Given the description of an element on the screen output the (x, y) to click on. 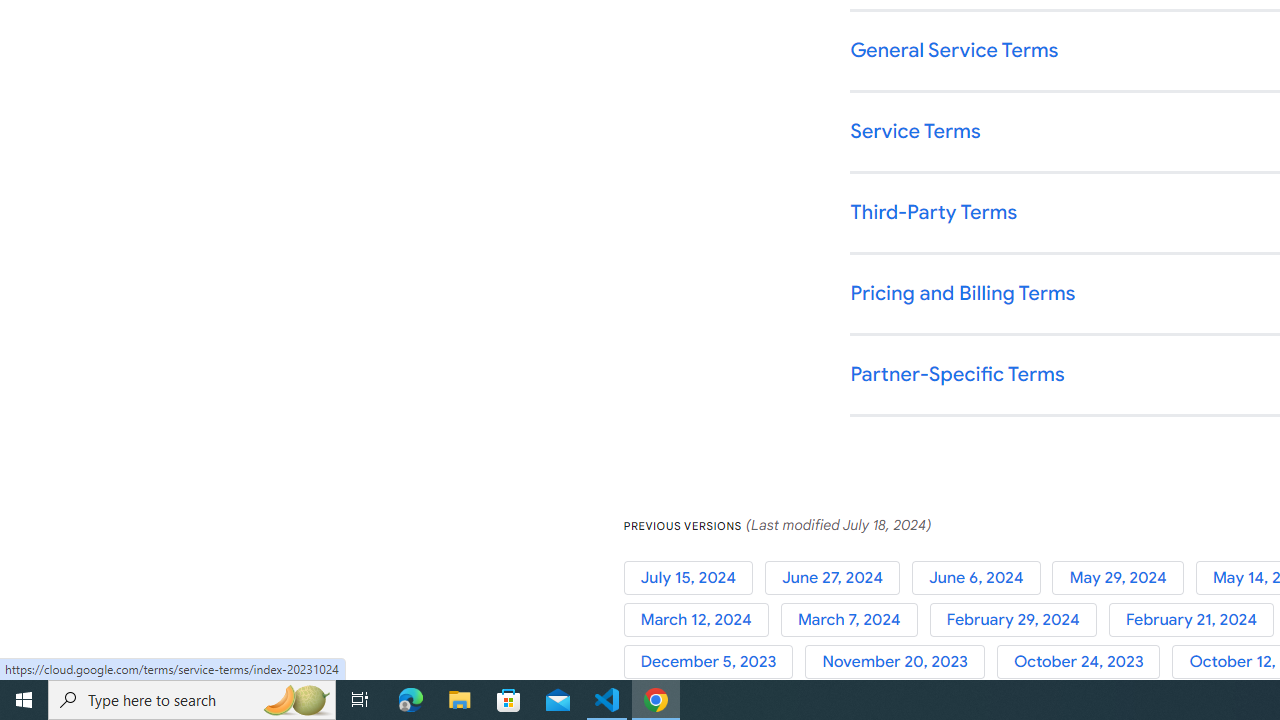
November 20, 2023 (901, 661)
June 27, 2024 (837, 577)
July 15, 2024 (694, 577)
October 24, 2023 (1083, 661)
February 29, 2024 (1018, 620)
June 6, 2024 (982, 577)
May 29, 2024 (1123, 577)
March 12, 2024 (701, 620)
March 7, 2024 (854, 620)
December 5, 2023 (714, 661)
